Given the description of an element on the screen output the (x, y) to click on. 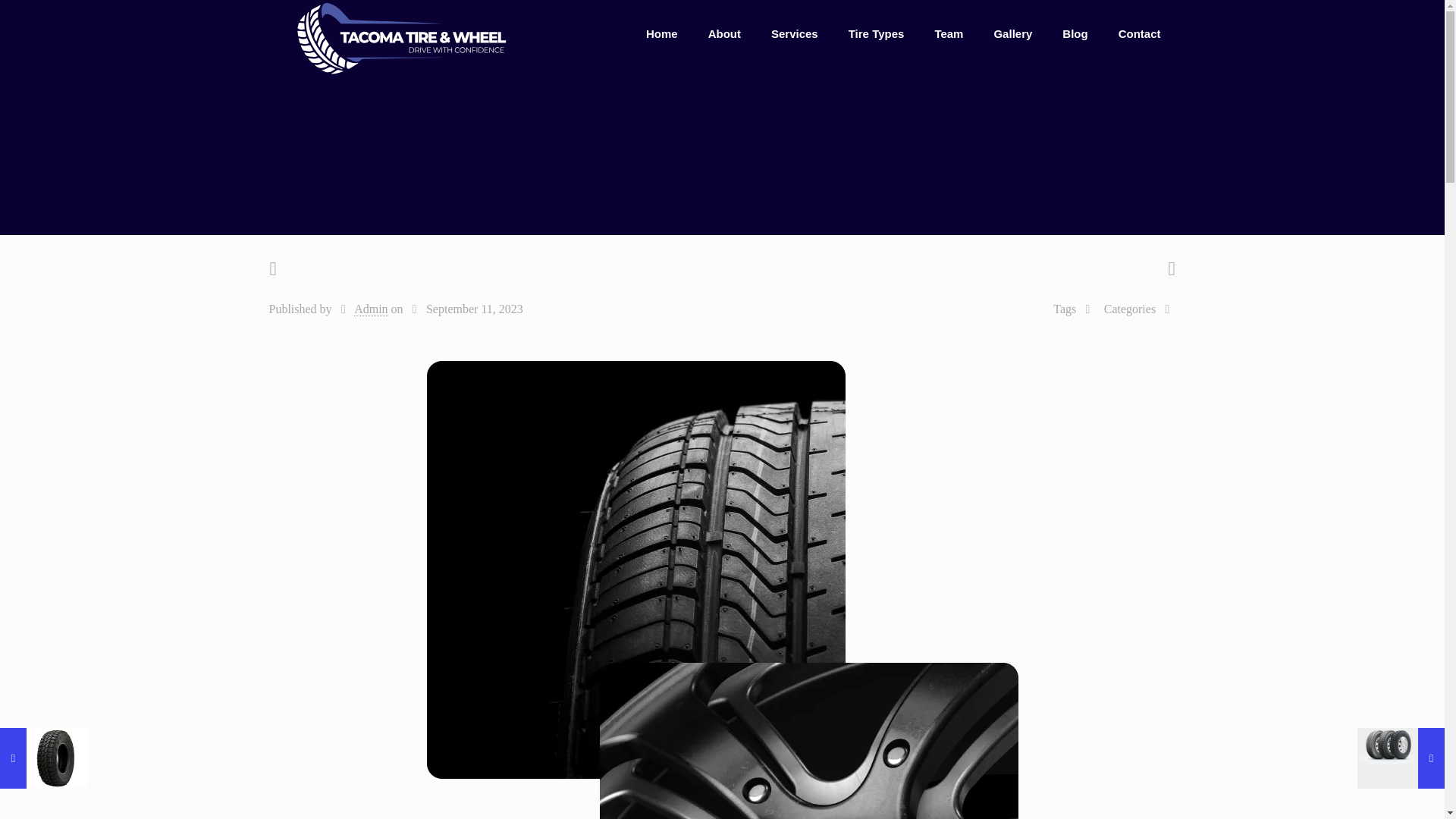
Gallery (1012, 33)
Admin (370, 309)
About (724, 33)
Tactires.com (400, 38)
Home (661, 33)
Services (793, 33)
Contact (1139, 33)
Tire Types (876, 33)
